Given the description of an element on the screen output the (x, y) to click on. 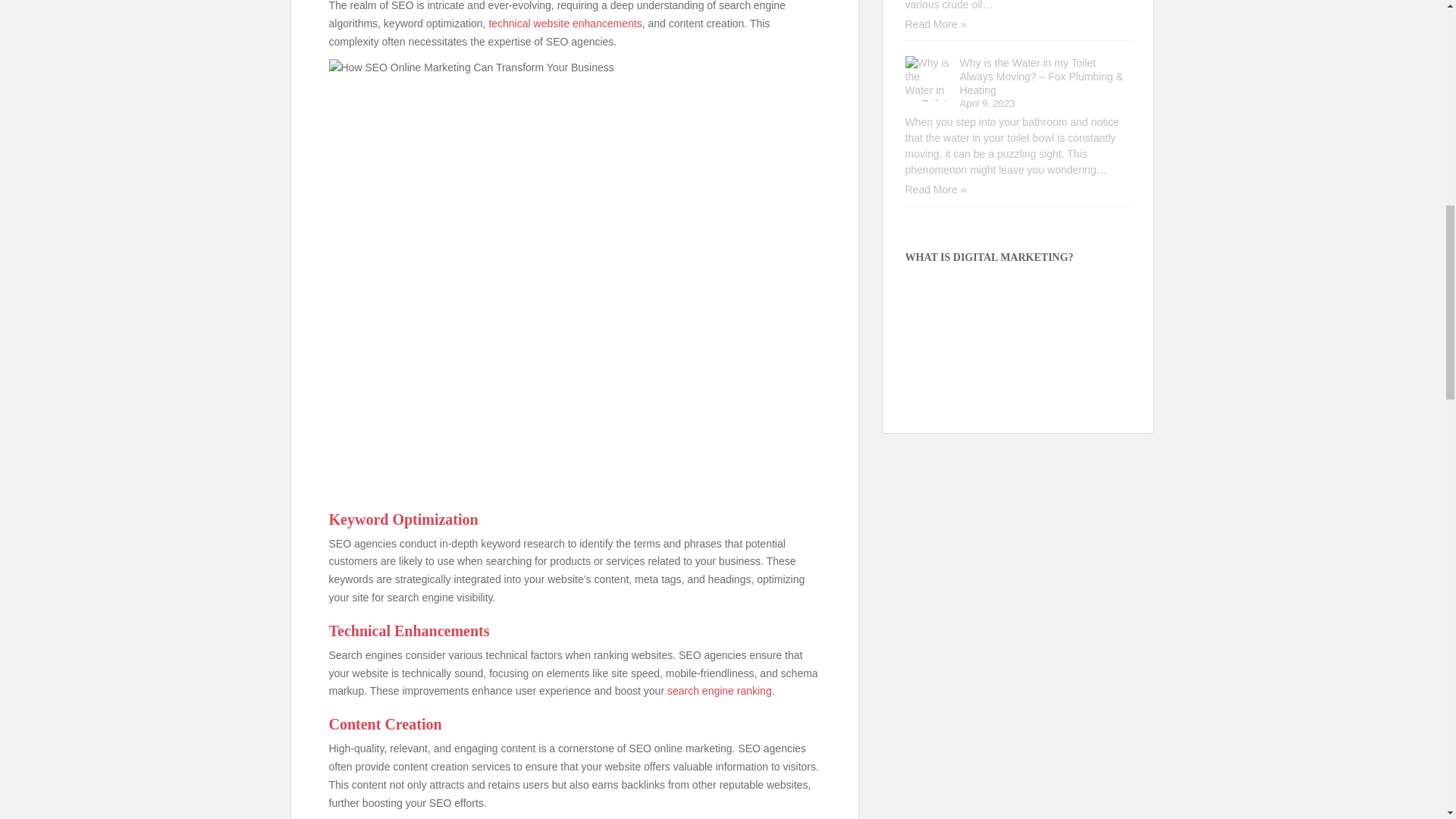
YouTube video player (1018, 339)
search engine ranking (718, 690)
technical website enhancements (564, 23)
